Given the description of an element on the screen output the (x, y) to click on. 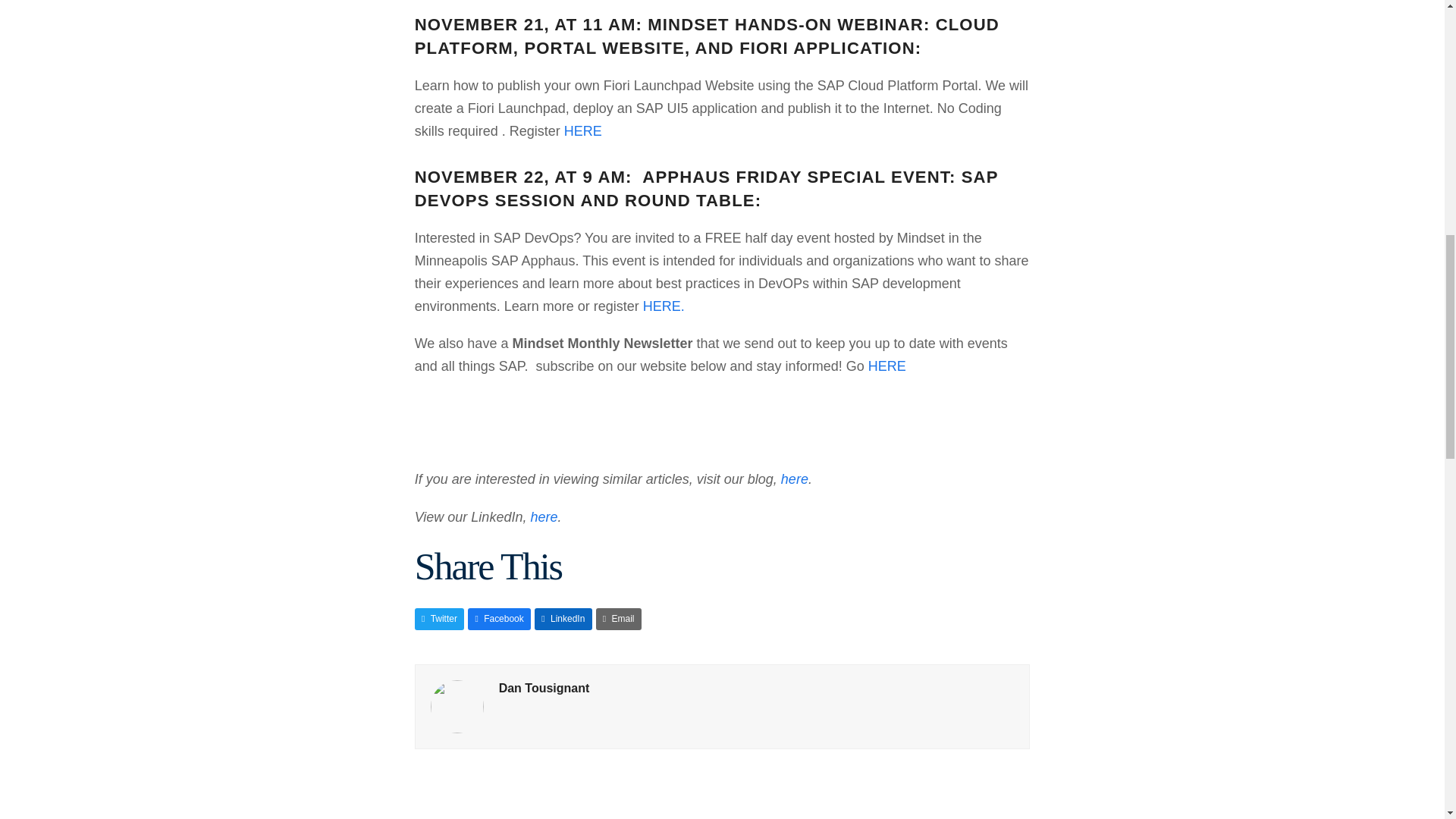
Visit Author Page (544, 687)
Visit Author Page (456, 706)
